Given the description of an element on the screen output the (x, y) to click on. 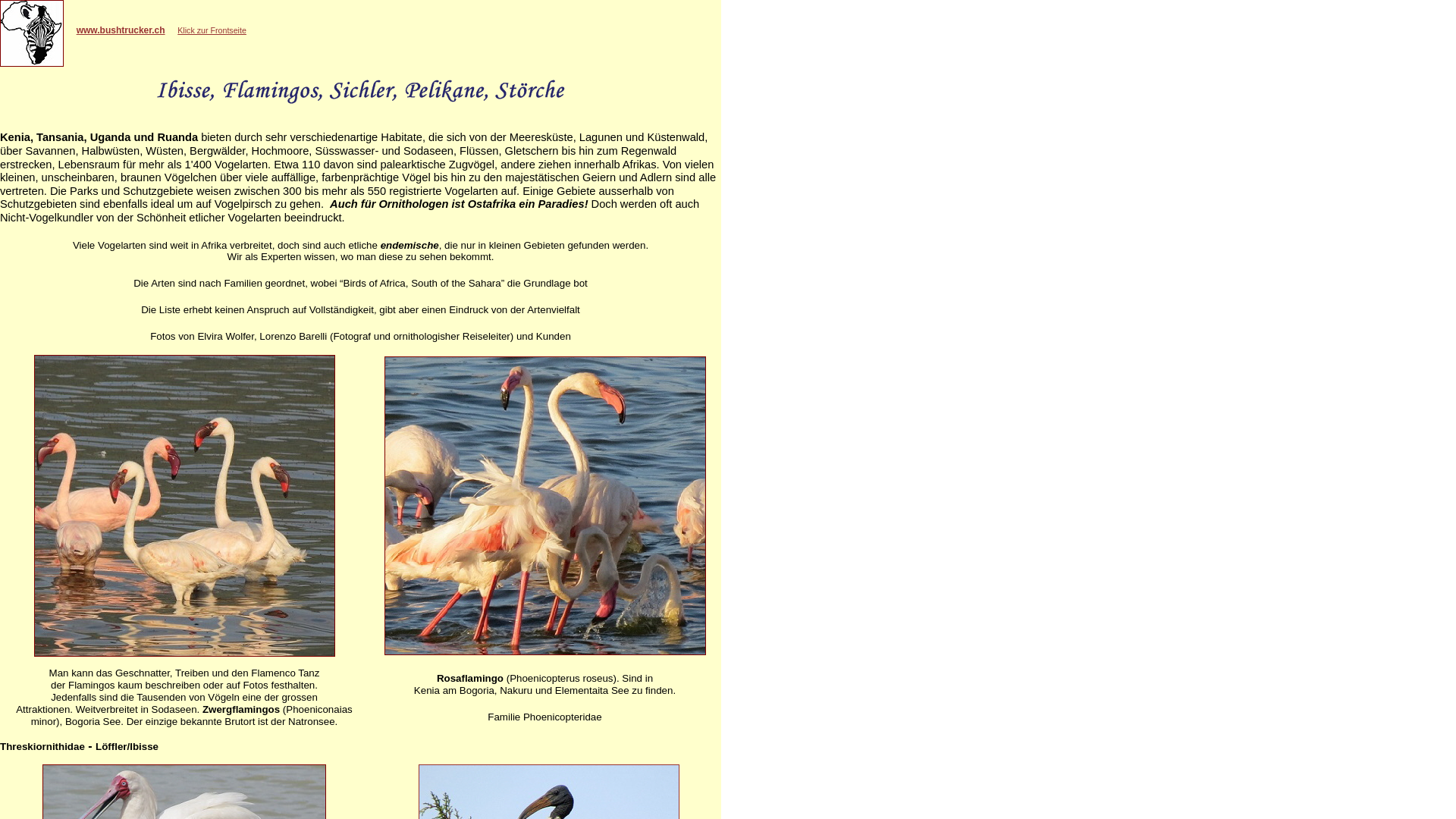
Zwergflamingos Element type: hover (183, 505)
Logo1 Element type: hover (31, 33)
Greater Flamingos Element type: hover (544, 505)
Klick zur Frontseite Element type: text (211, 30)
www.bushtrucker.ch Element type: text (120, 30)
